Given the description of an element on the screen output the (x, y) to click on. 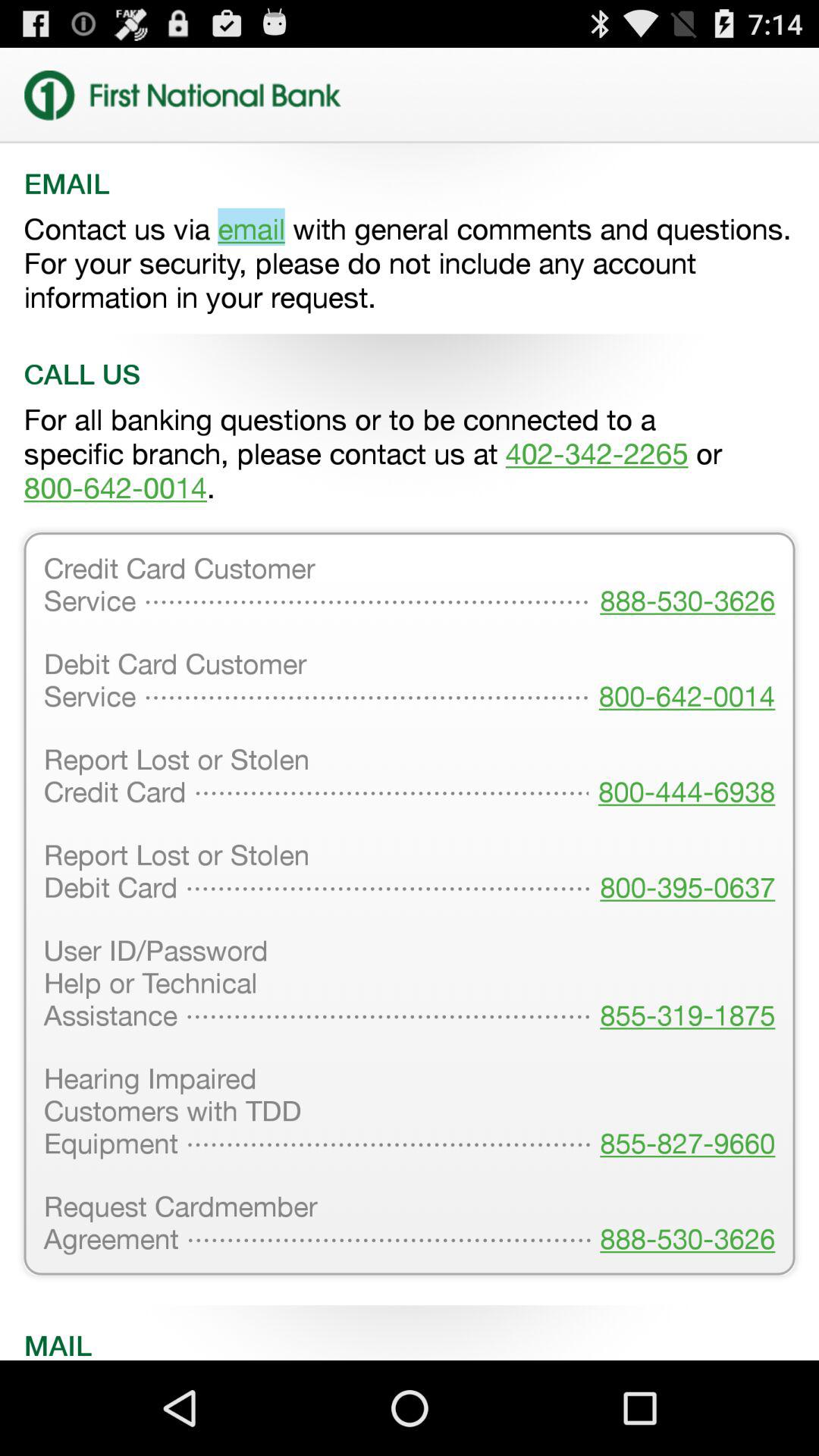
click icon below debit card customer icon (681, 777)
